Given the description of an element on the screen output the (x, y) to click on. 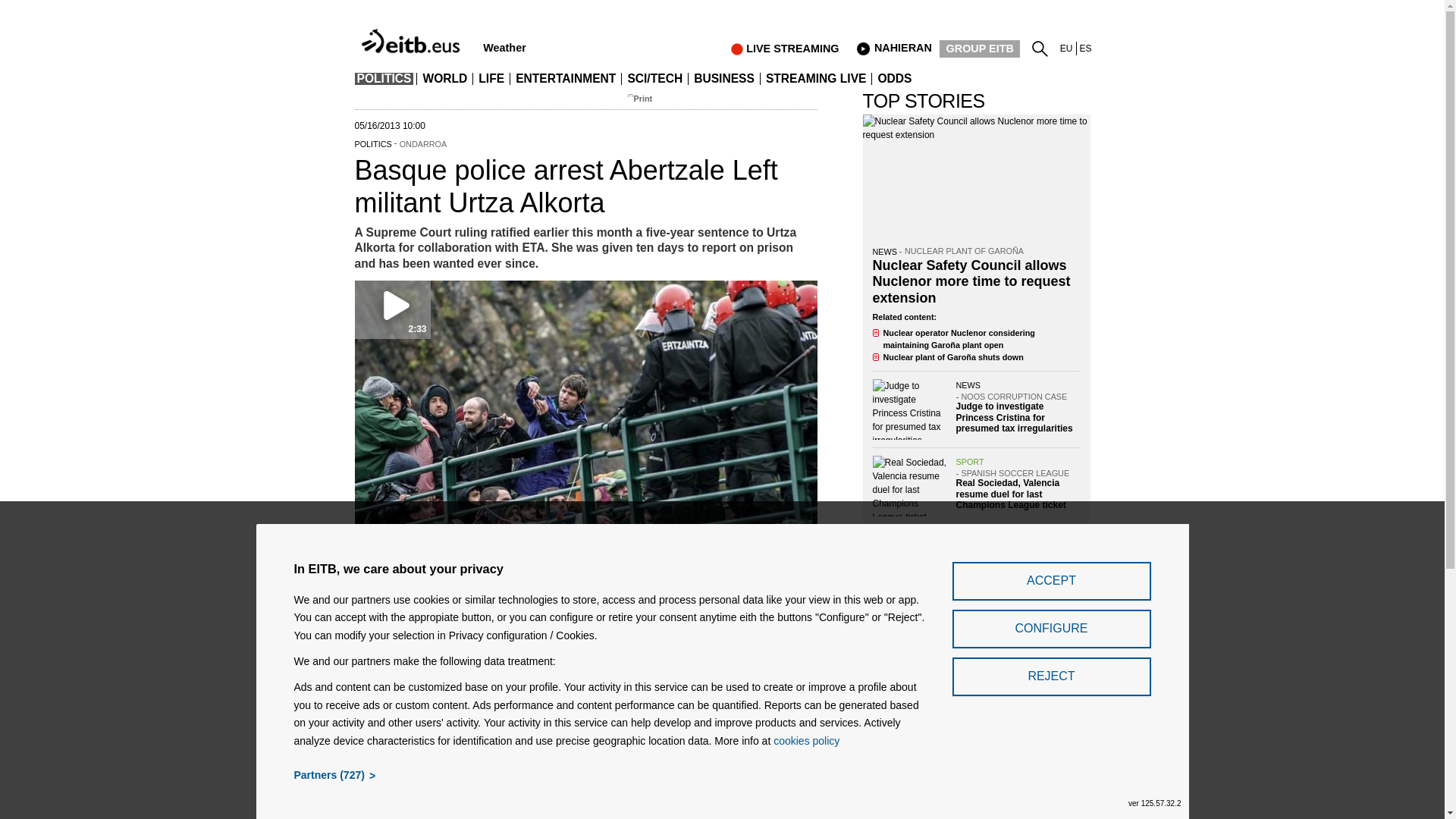
LIFE (491, 78)
ENTERTAINMENT (565, 78)
ODDS (894, 78)
GROUP EITB (979, 48)
STREAMING LIVE (815, 78)
Print (642, 98)
WORLD (444, 78)
EITB Euskal Irrati Telebista (412, 32)
EU (1066, 48)
POLITICS (384, 78)
ES (1086, 48)
Bilatu (1043, 45)
BUSINESS (724, 78)
Euskara (1066, 48)
NAHIERAN (893, 48)
